Given the description of an element on the screen output the (x, y) to click on. 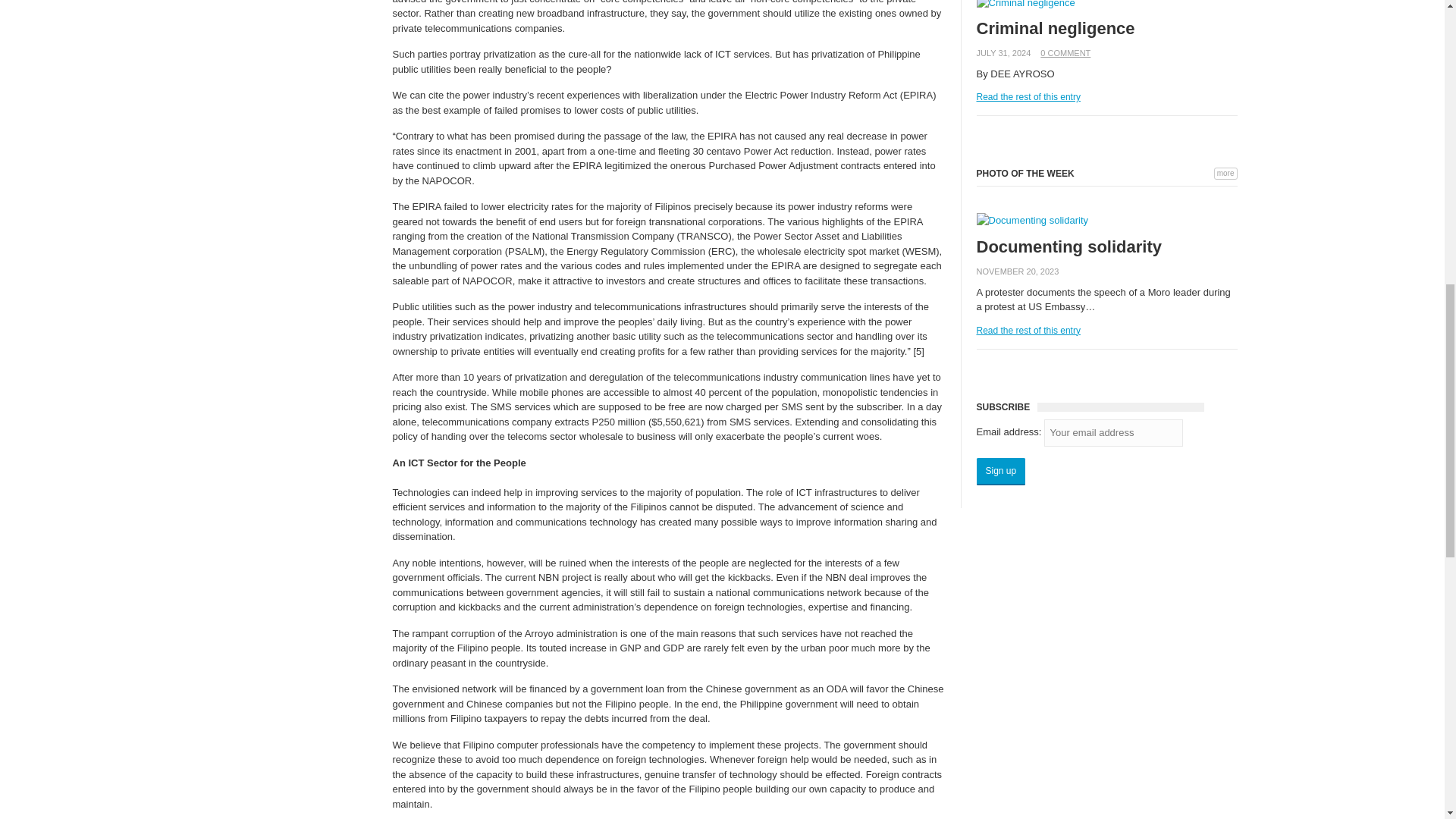
Sign up (1001, 471)
